Given the description of an element on the screen output the (x, y) to click on. 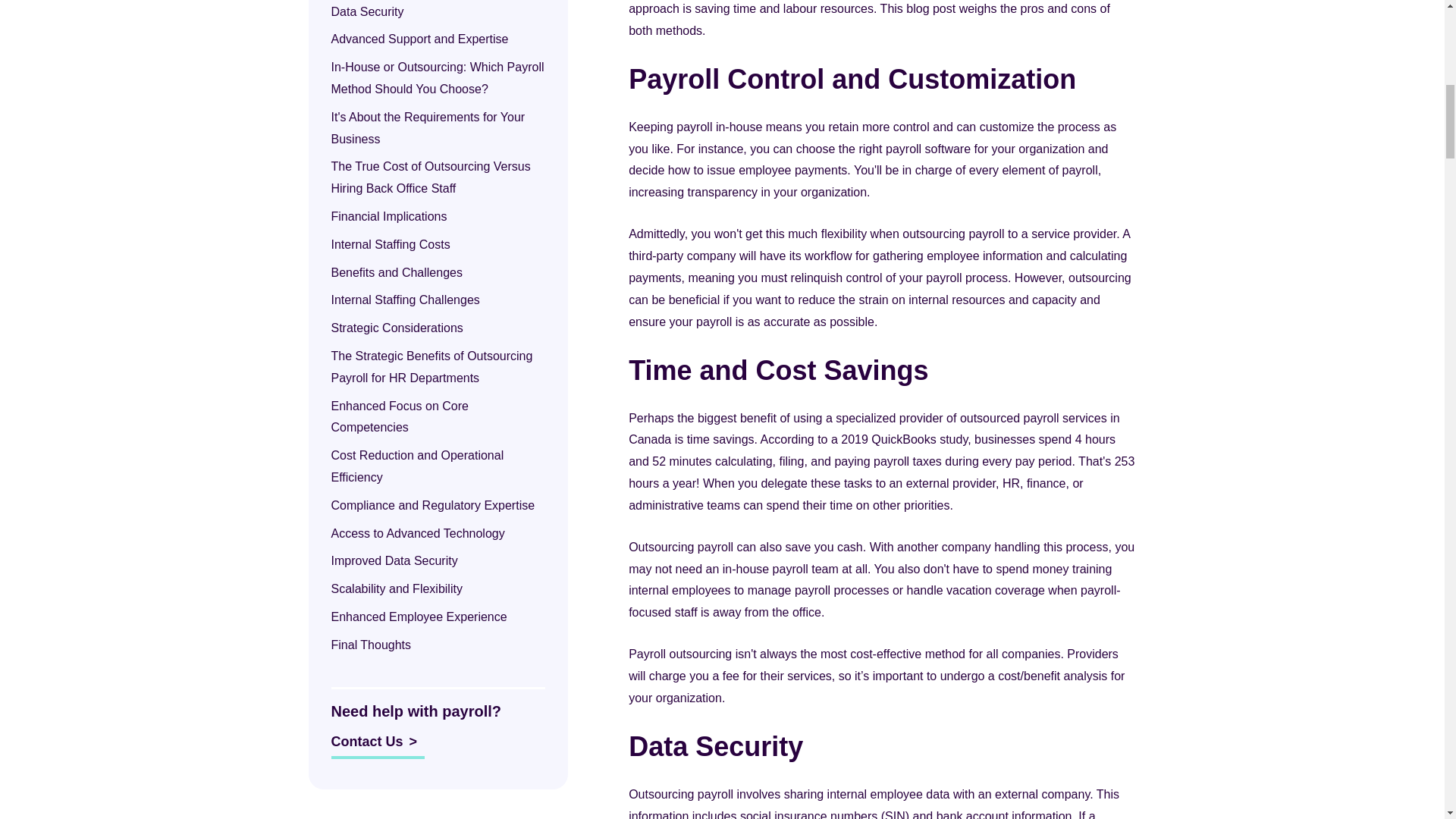
Advanced Support and Expertise (419, 38)
Data Security  (368, 11)
It's About the Requirements for Your Business (427, 127)
The True Cost of Outsourcing Versus Hiring Back Office Staff (429, 176)
